Given the description of an element on the screen output the (x, y) to click on. 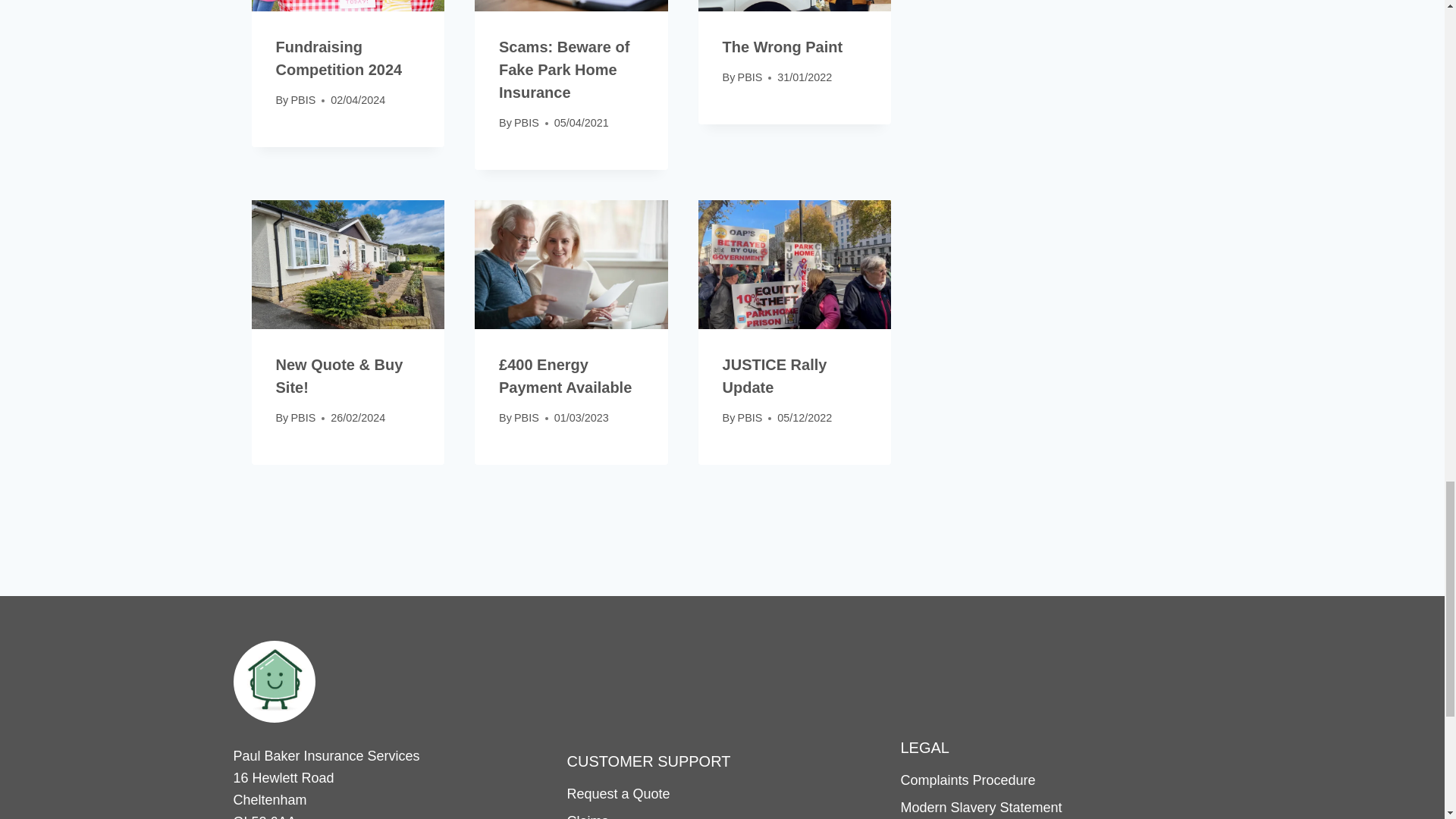
PBIS (302, 100)
Fundraising Competition 2024 (339, 57)
